Given the description of an element on the screen output the (x, y) to click on. 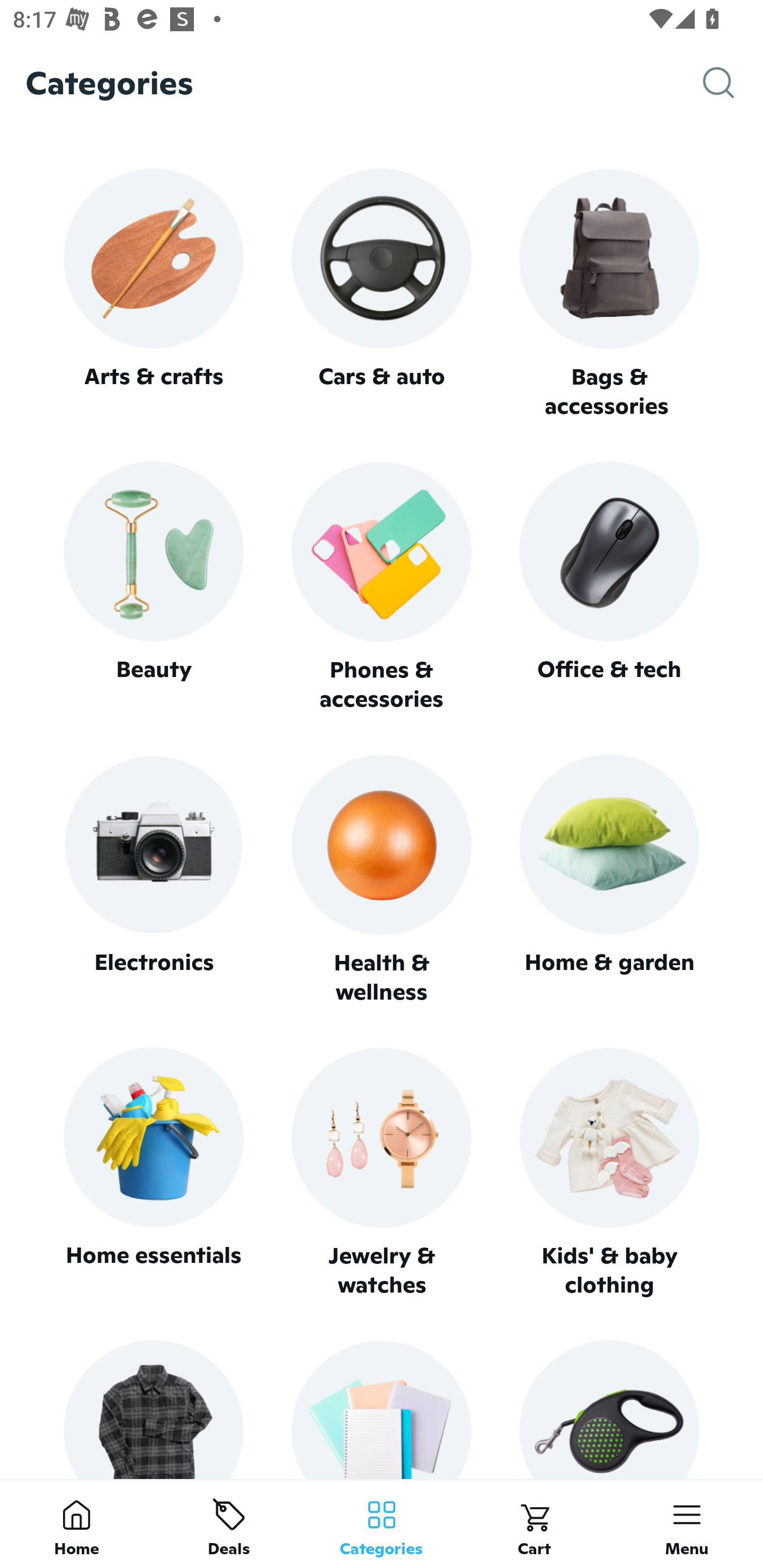
Search (732, 82)
Arts & crafts (153, 293)
Cars & auto (381, 293)
Bags & accessories  (609, 294)
Beauty (153, 586)
Office & tech (609, 586)
Phones & accessories (381, 587)
Electronics (153, 880)
Home & garden (609, 880)
Health & wellness (381, 880)
Home essentials (153, 1172)
Jewelry & watches (381, 1172)
Kids' & baby clothing (609, 1172)
Men's clothing (153, 1409)
Pet supplies (609, 1409)
Office & school supplies (381, 1409)
Home (76, 1523)
Deals (228, 1523)
Categories (381, 1523)
Cart (533, 1523)
Menu (686, 1523)
